Given the description of an element on the screen output the (x, y) to click on. 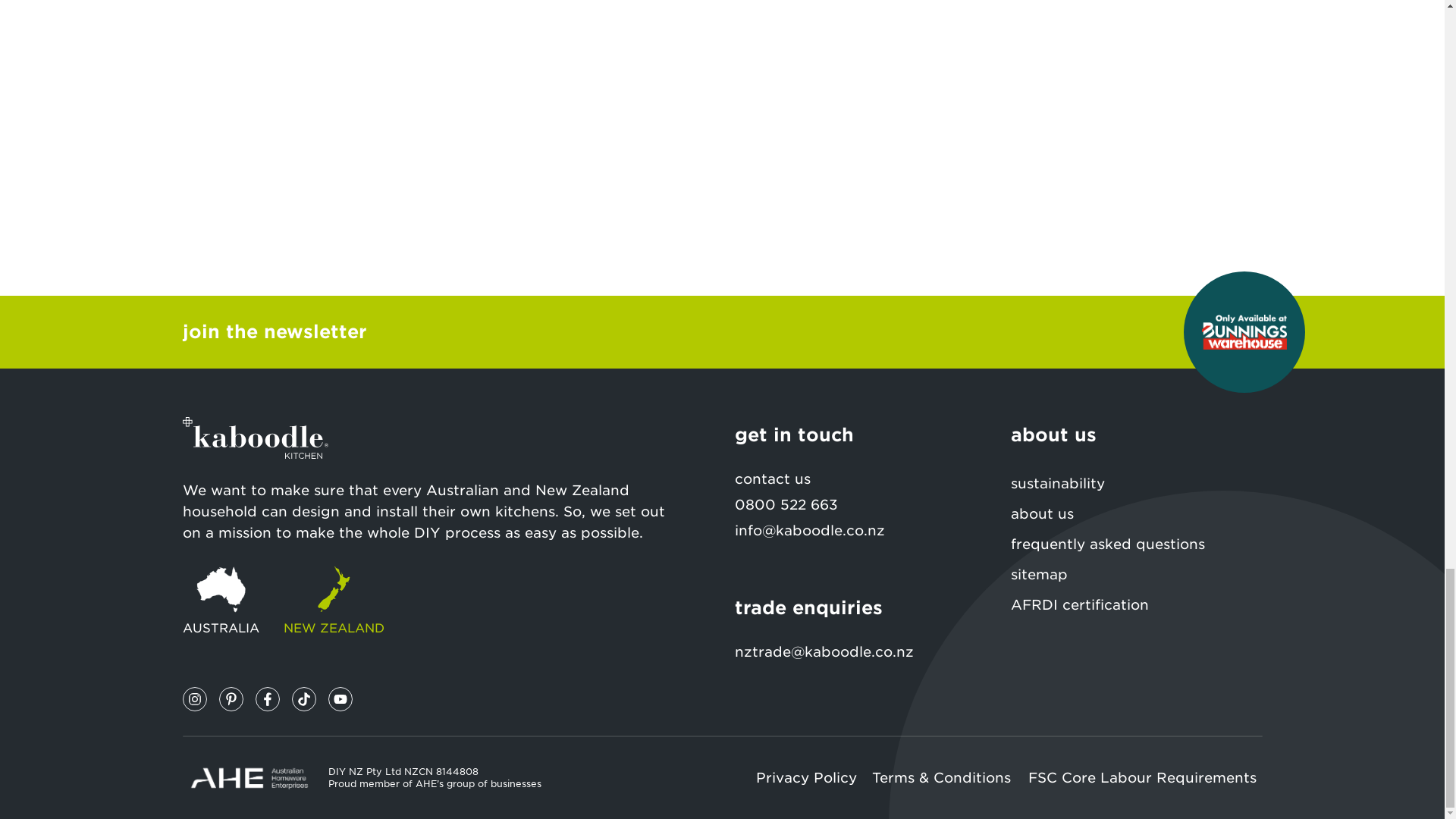
sustainability (1136, 483)
0800 522 663 (785, 504)
sitemap (1136, 574)
Privacy Policy (807, 777)
AFRDI certification (1136, 604)
about us (1136, 513)
FSC Core Labour Requirements (1144, 777)
frequently asked questions (1136, 544)
contact us (859, 478)
